Given the description of an element on the screen output the (x, y) to click on. 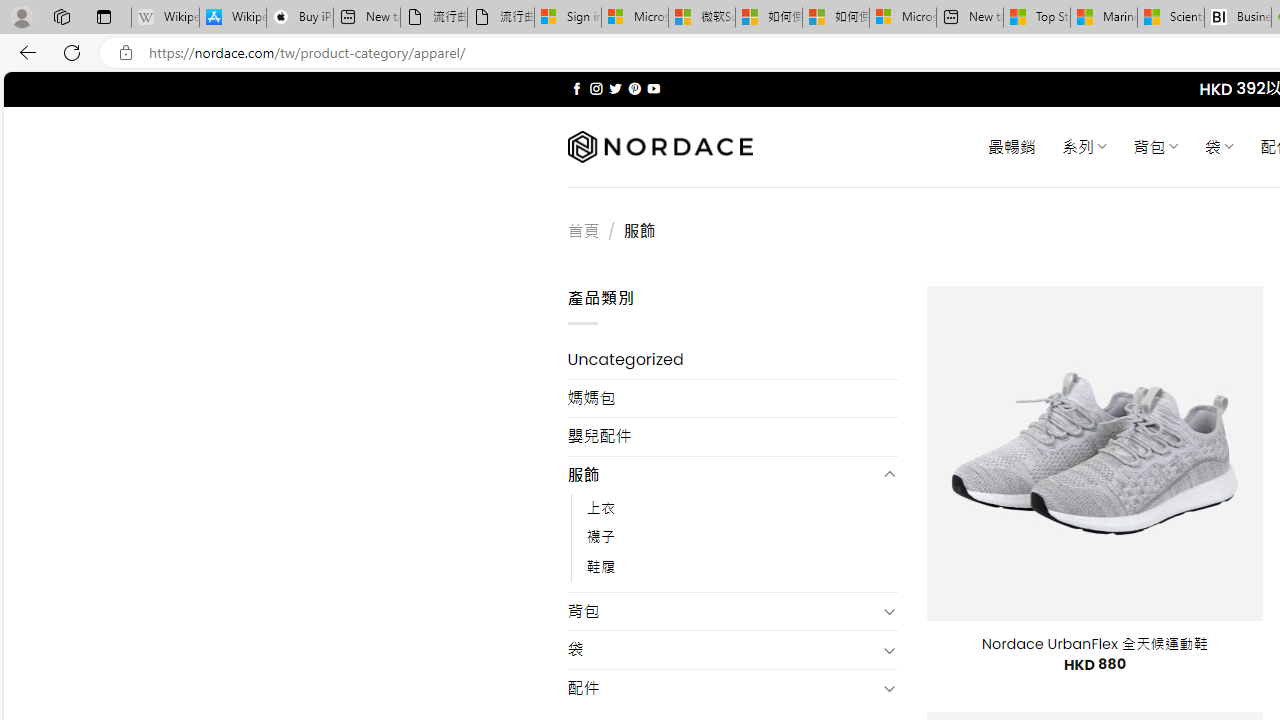
Follow on Twitter (615, 88)
Follow on Instagram (596, 88)
Follow on Pinterest (634, 88)
